Given the description of an element on the screen output the (x, y) to click on. 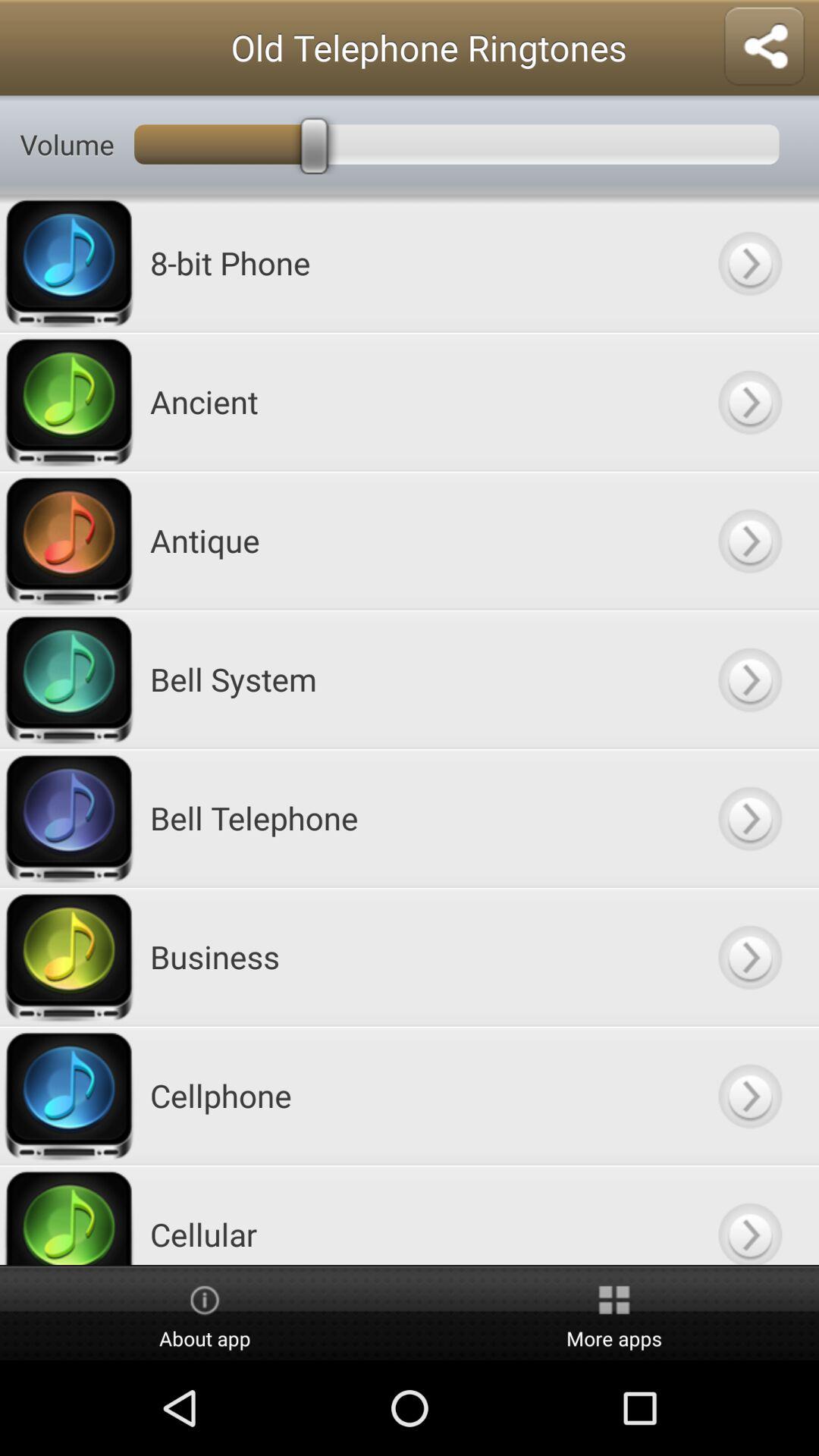
toggle autoplay option (749, 1214)
